Given the description of an element on the screen output the (x, y) to click on. 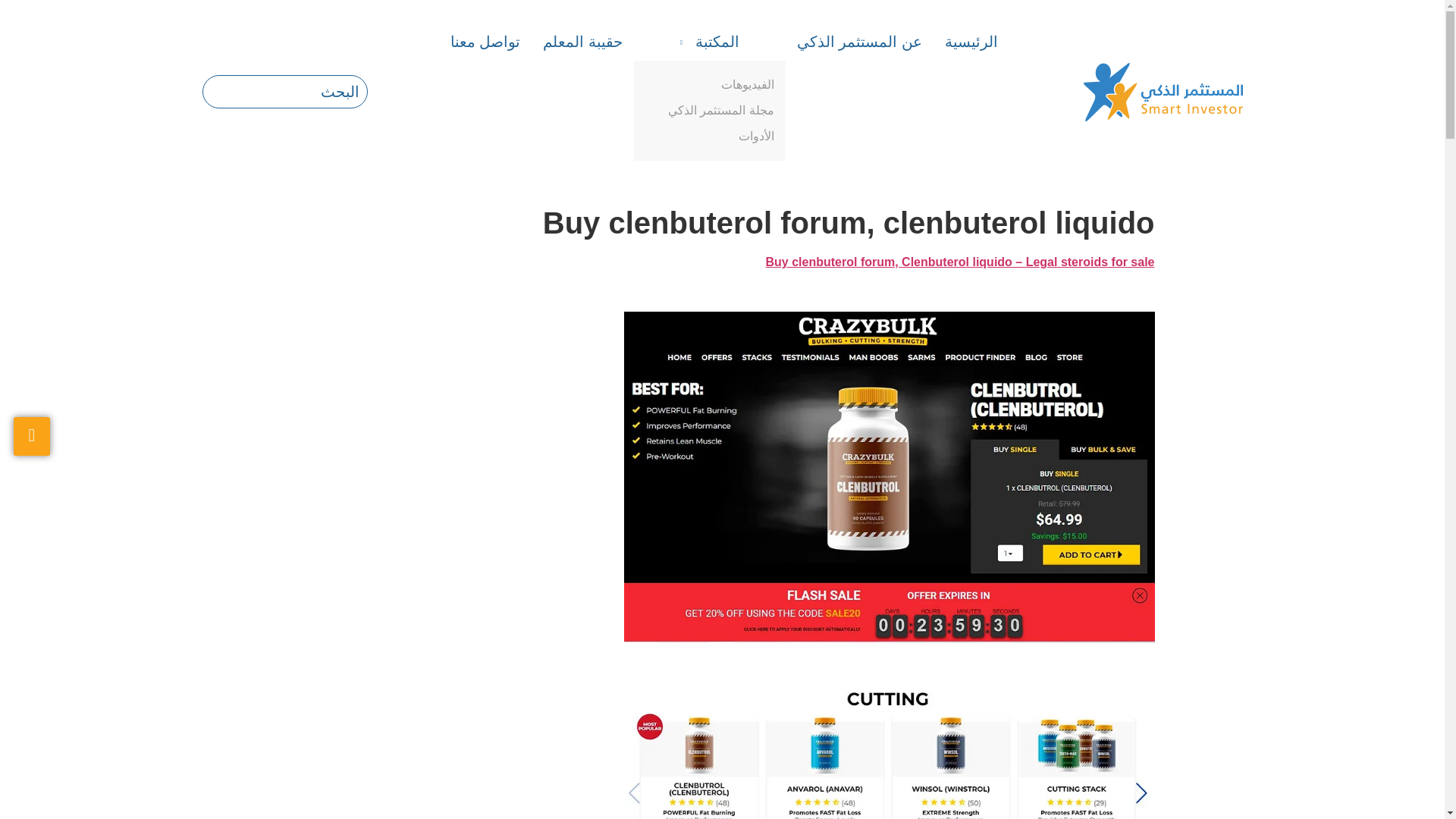
forum clenbuterol buy (888, 753)
Search (285, 91)
